Given the description of an element on the screen output the (x, y) to click on. 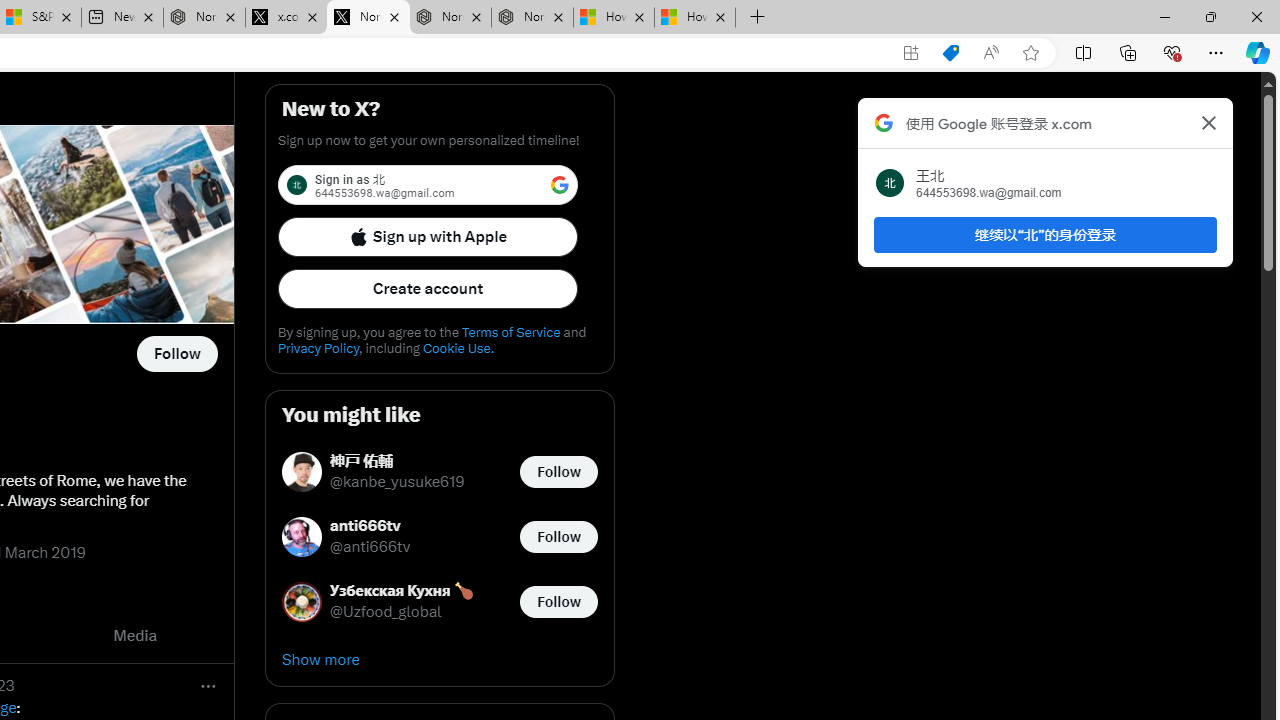
Create account (427, 288)
Terms of Service (510, 331)
Follow @kanbe_yusuke619 (558, 471)
@kanbe_yusuke619 (397, 482)
@anti666tv (370, 547)
Cookie Use. (458, 348)
Follow @Uzfood_global (558, 600)
Follow @NordaceOfficial (176, 354)
Sign up with Apple (427, 236)
